Given the description of an element on the screen output the (x, y) to click on. 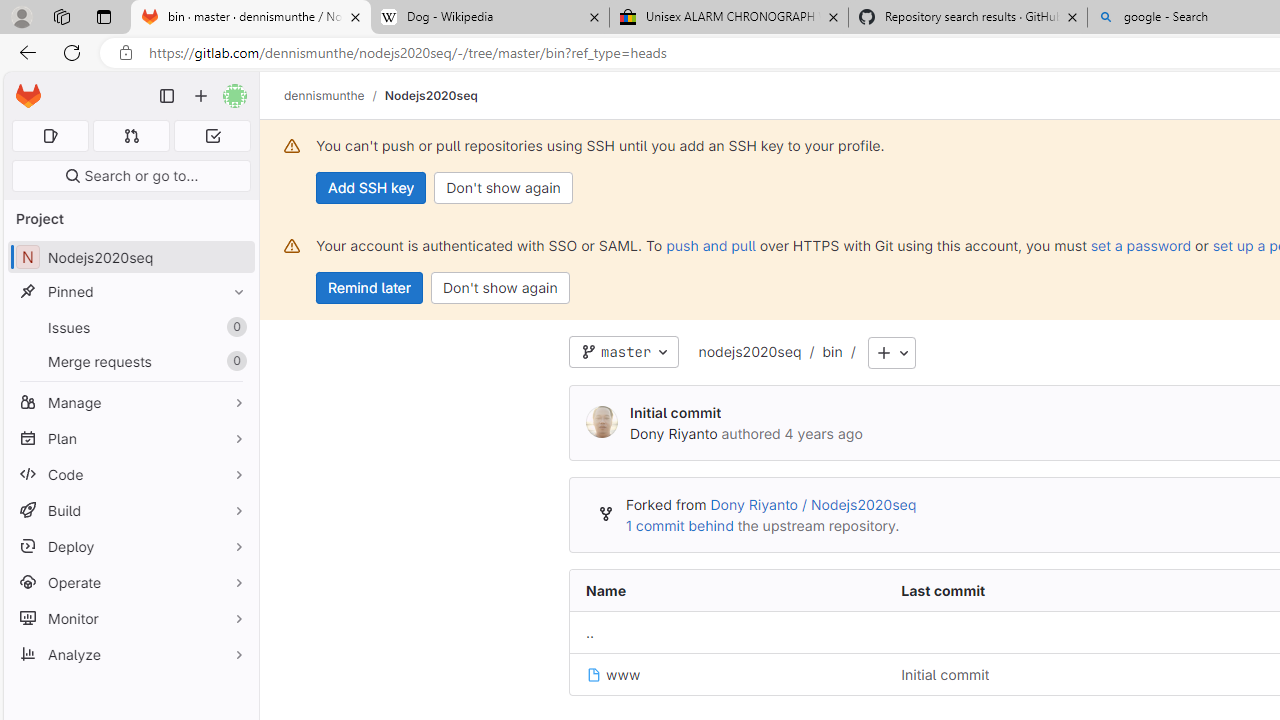
master (624, 351)
1 commit behind (679, 525)
Dony Riyanto (673, 433)
Class: s16 gl-alert-icon gl-alert-icon-no-title (291, 246)
nodejs2020seq (749, 353)
Nodejs2020seq (430, 95)
Merge requests 0 (131, 136)
Homepage (27, 96)
set a password (1140, 245)
Skip to main content (23, 87)
Monitor (130, 618)
Go to parent (590, 633)
